Given the description of an element on the screen output the (x, y) to click on. 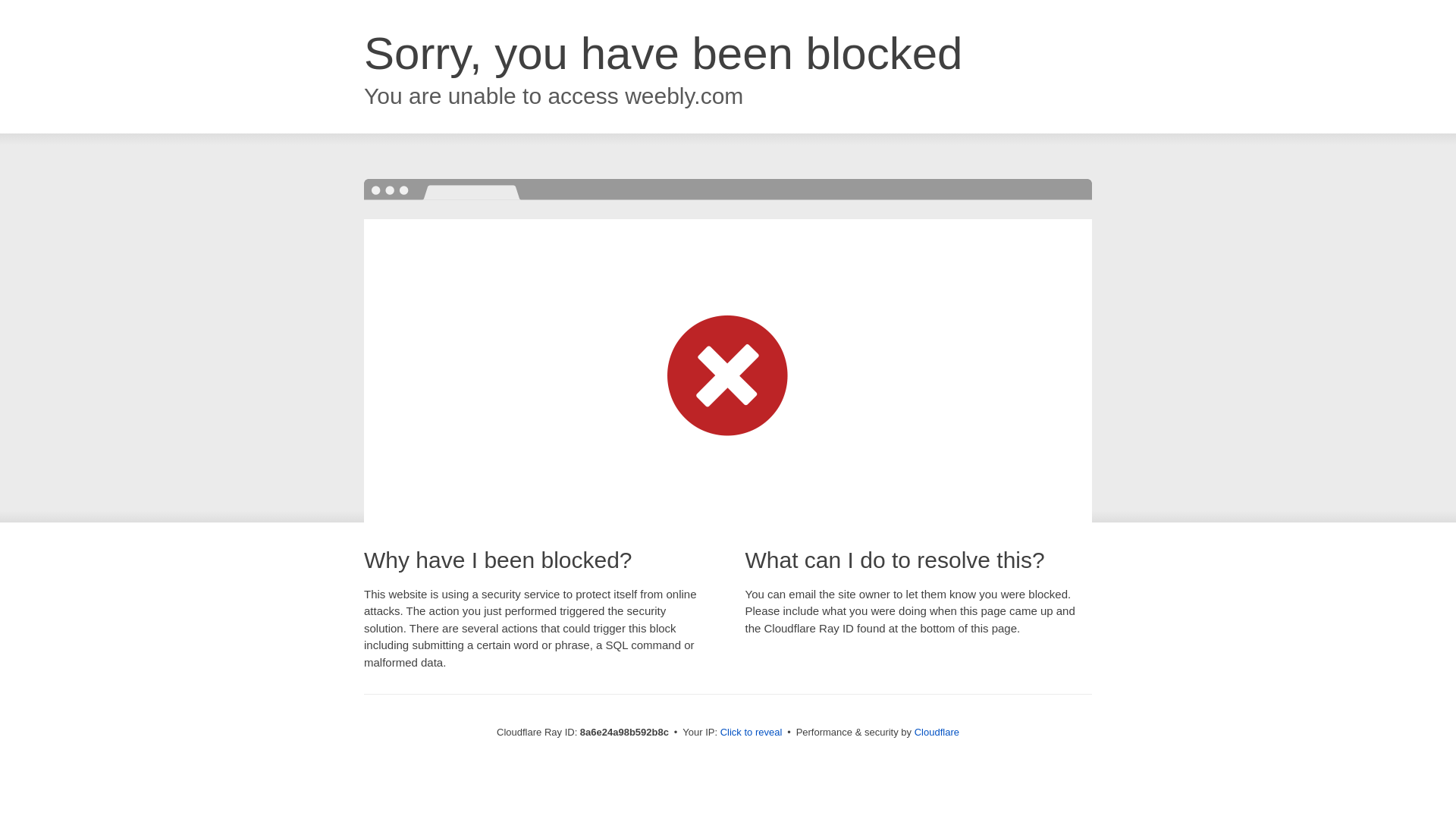
Cloudflare (936, 731)
Click to reveal (751, 732)
